Given the description of an element on the screen output the (x, y) to click on. 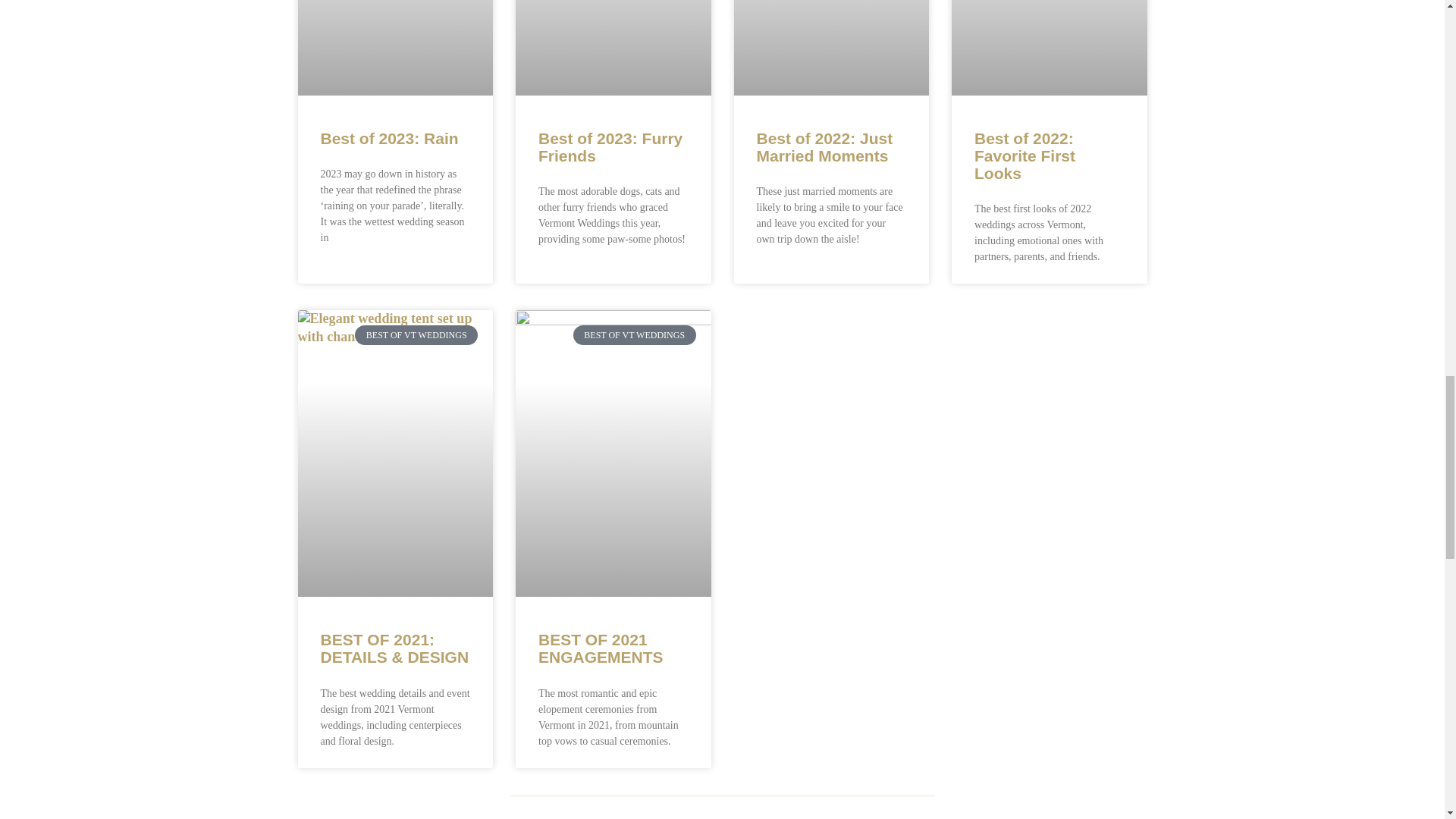
Best of 2022: Just Married Moments (825, 146)
Best of 2023: Furry Friends (610, 146)
Best of 2023: Rain (389, 138)
